Given the description of an element on the screen output the (x, y) to click on. 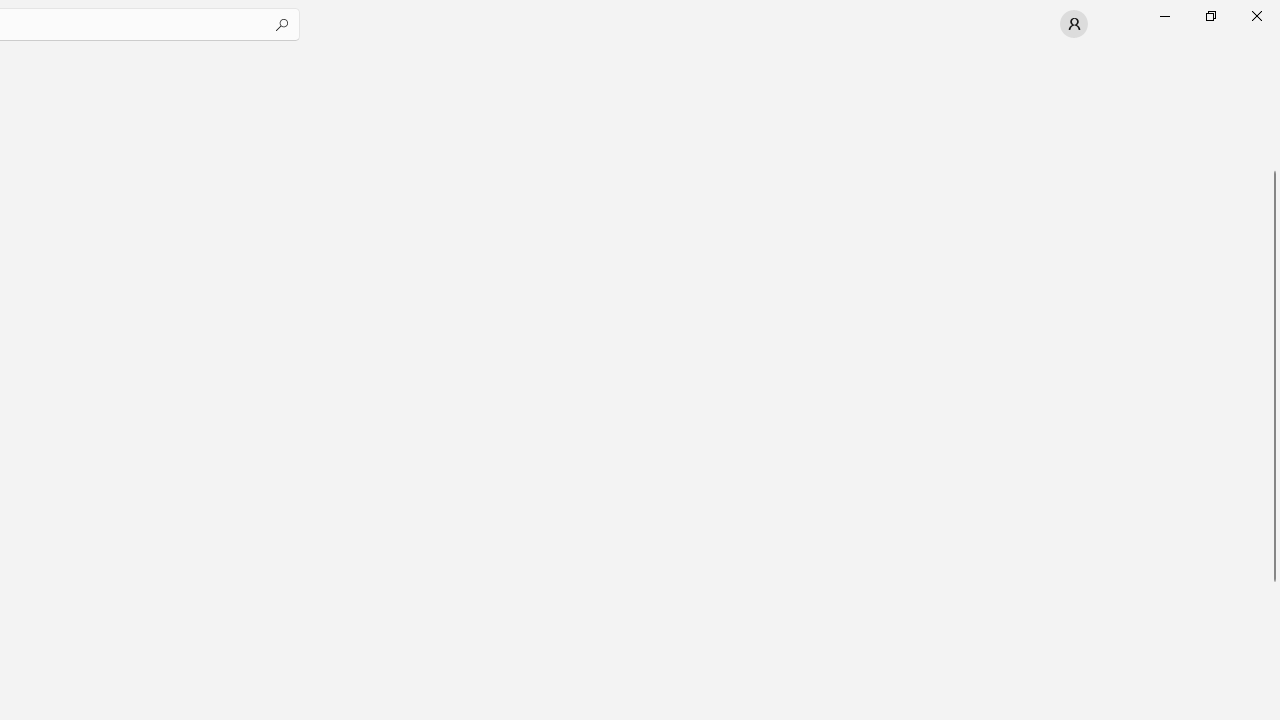
Vertical Small Decrease (1272, 55)
Vertical Large Decrease (1272, 111)
